Given the description of an element on the screen output the (x, y) to click on. 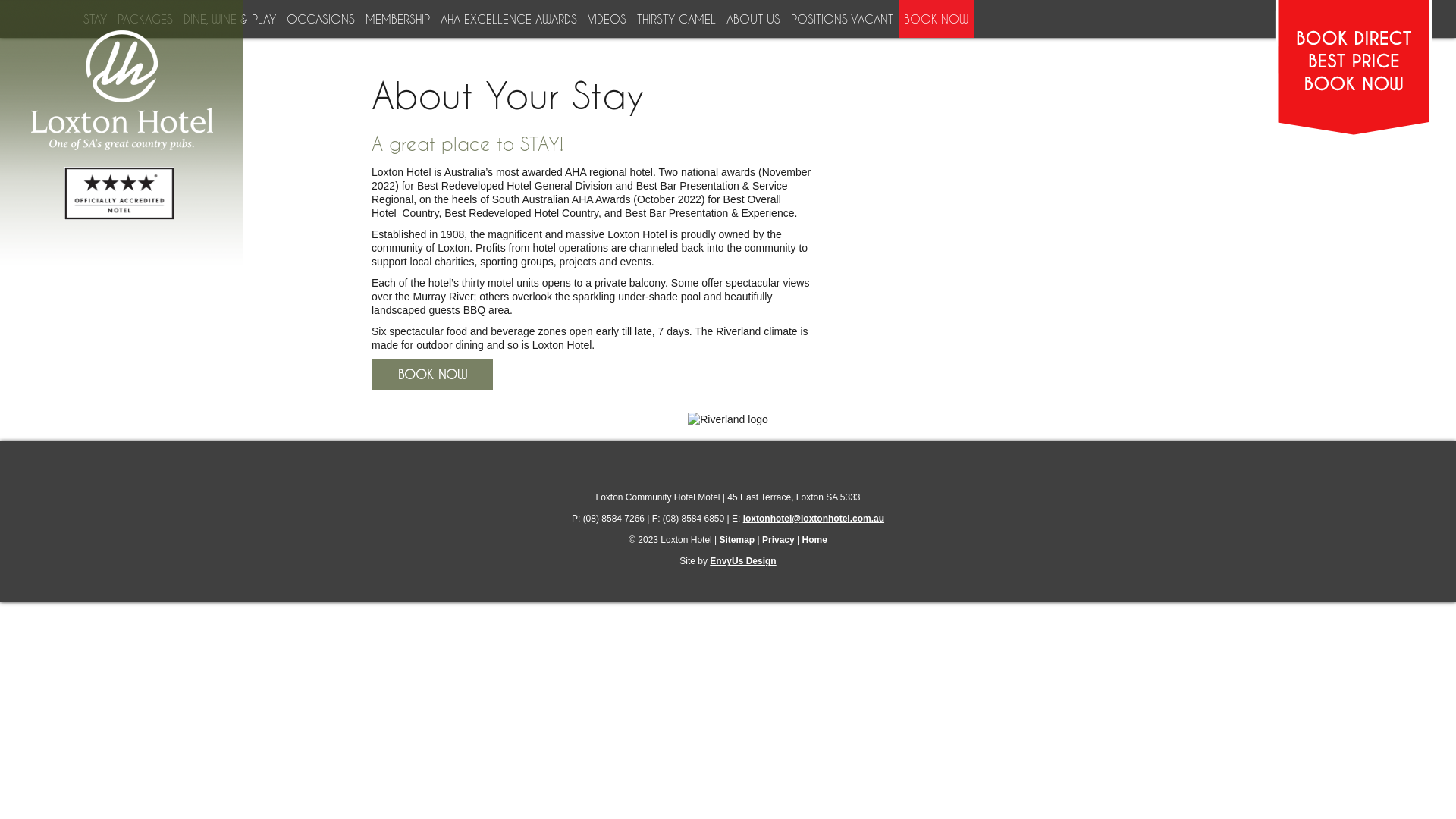
ABOUT US Element type: text (750, 18)
AHA EXCELLENCE AWARDS Element type: text (506, 18)
Home Element type: text (814, 539)
DINE, WINE & PLAY Element type: text (227, 18)
Sitemap Element type: text (737, 539)
THIRSTY CAMEL Element type: text (673, 18)
BOOK NOW Element type: text (431, 374)
OCCASIONS Element type: text (317, 18)
Loxton Hotel - Book Now Element type: hover (1353, 131)
VIDEOS Element type: text (604, 18)
PACKAGES Element type: text (142, 18)
Privacy Element type: text (778, 539)
EnvyUs Design Element type: text (742, 560)
MEMBERSHIP Element type: text (394, 18)
loxtonhotel@loxtonhotel.com.au Element type: text (813, 518)
POSITIONS VACANT Element type: text (839, 18)
BOOK NOW Element type: text (933, 18)
STAY Element type: text (92, 18)
